Given the description of an element on the screen output the (x, y) to click on. 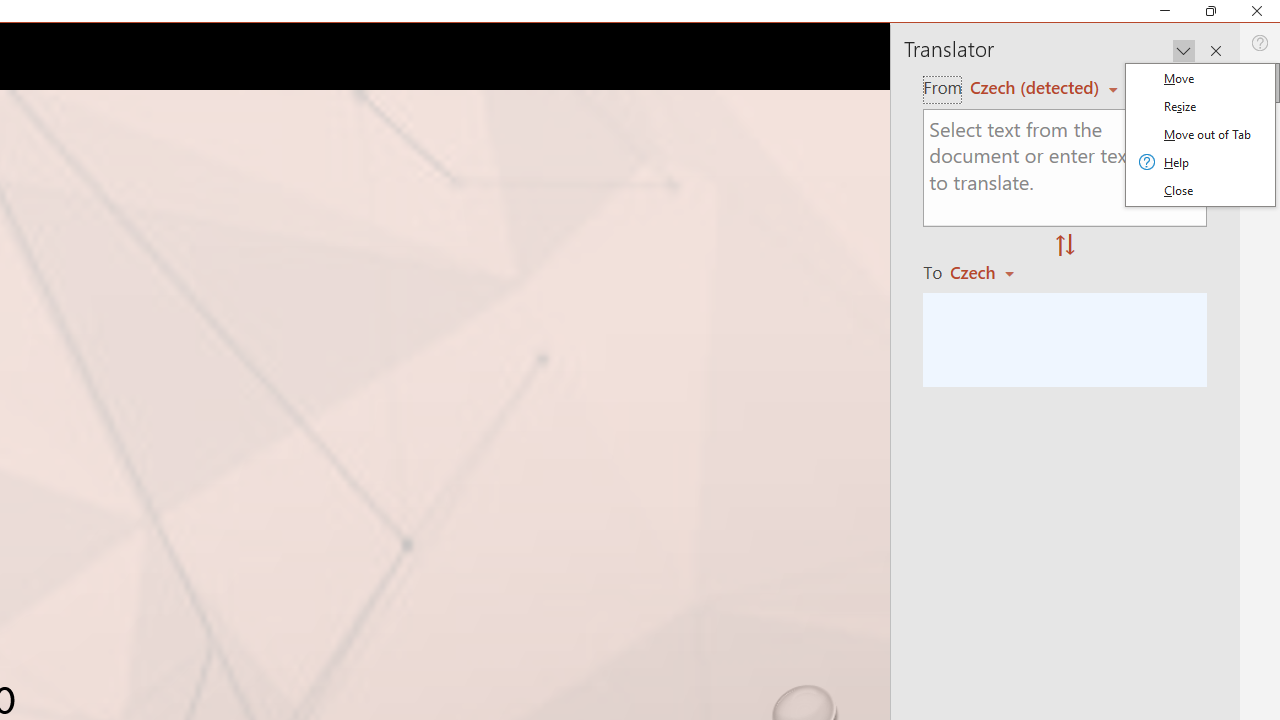
Swap "from" and "to" languages. (1065, 245)
Czech (detected) (1037, 87)
Class: Net UI Tool Window (1200, 135)
Czech (991, 272)
